Given the description of an element on the screen output the (x, y) to click on. 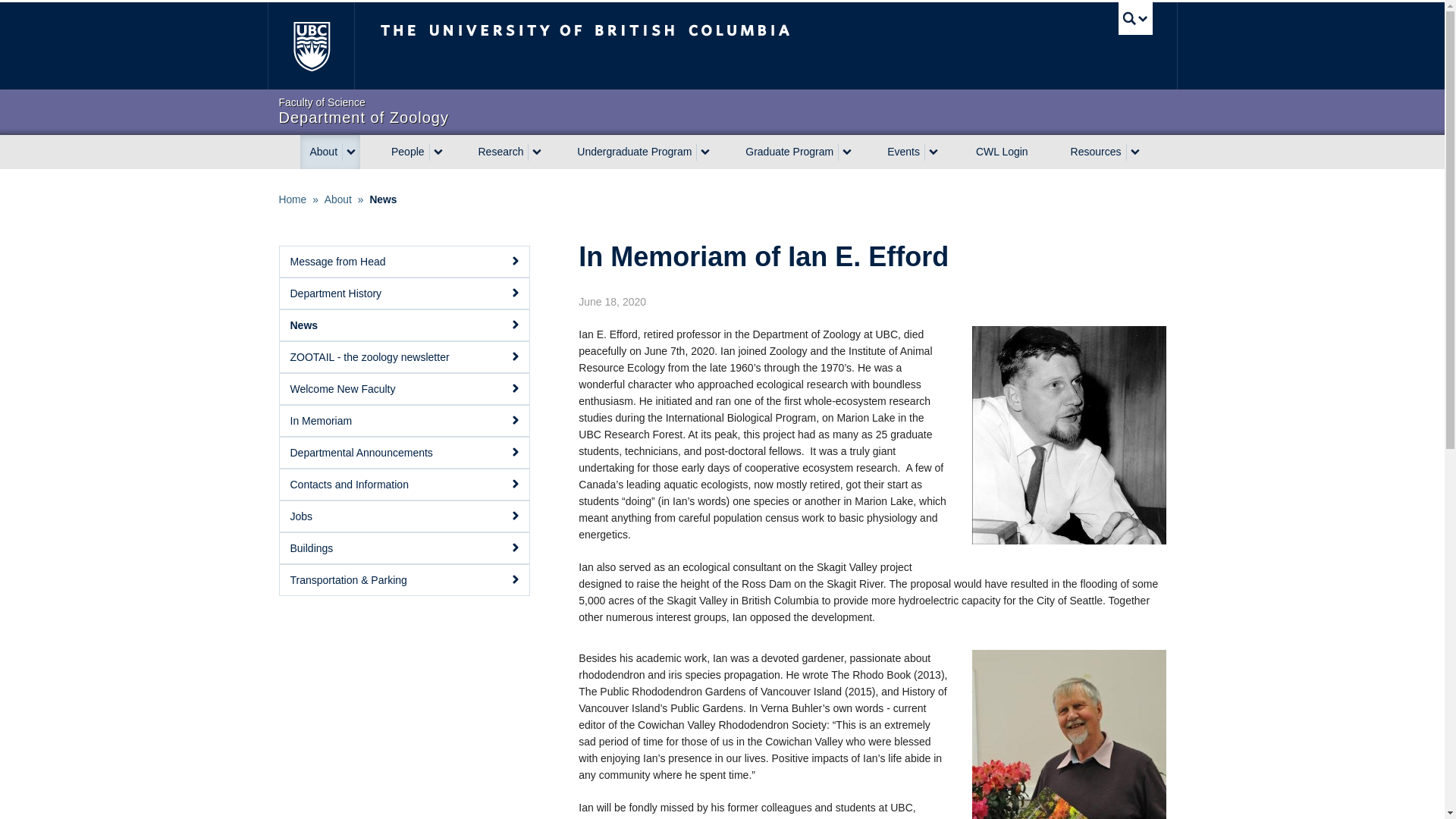
UBC Search (1135, 18)
The University of British Columbia (309, 45)
The University of British Columbia (722, 110)
Skip to main content (635, 45)
About (405, 151)
